Given the description of an element on the screen output the (x, y) to click on. 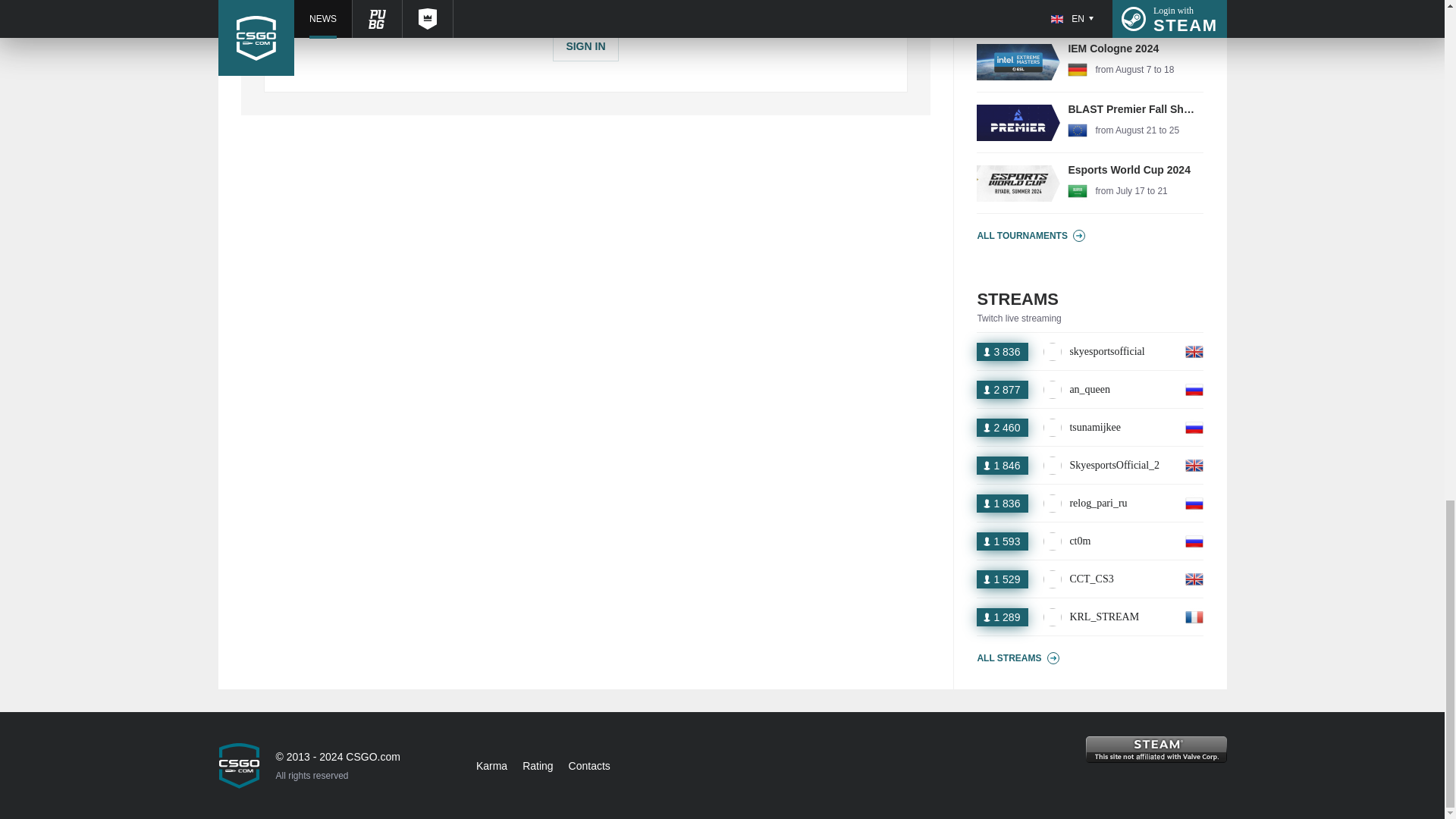
SIGN IN (1090, 15)
